Given the description of an element on the screen output the (x, y) to click on. 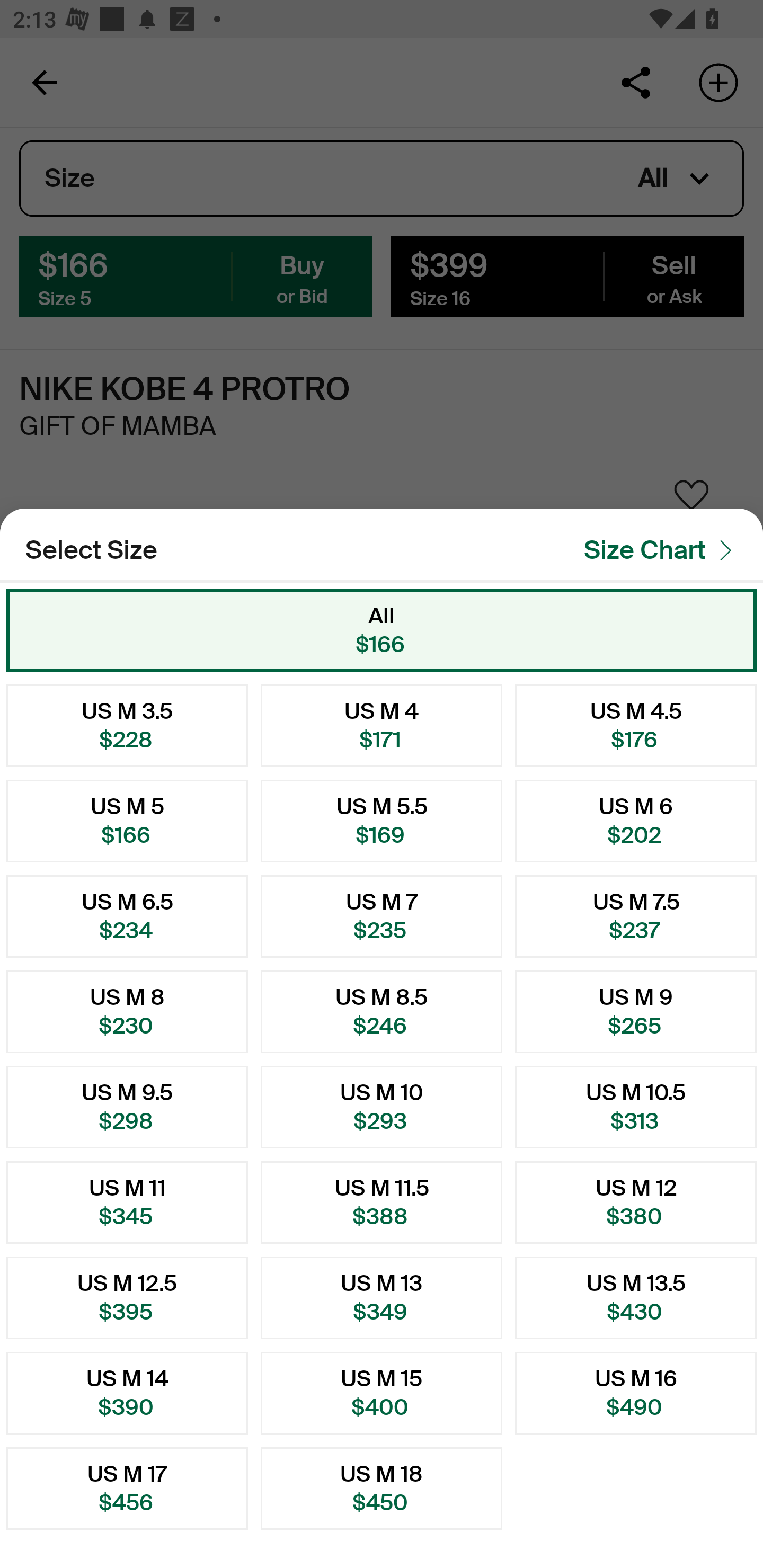
Size Chart (663, 550)
All $166 (381, 630)
US M 3.5 $228 (126, 724)
US M 4 $171 (381, 724)
US M 4.5 $176 (635, 724)
US M 5 $166 (126, 820)
US M 5.5 $169 (381, 820)
US M 6 $202 (635, 820)
US M 6.5 $234 (126, 916)
US M 7 $235 (381, 916)
US M 7.5 $237 (635, 916)
US M 8 $230 (126, 1011)
US M 8.5 $246 (381, 1011)
US M 9 $265 (635, 1011)
US M 9.5 $298 (126, 1106)
US M 10 $293 (381, 1106)
US M 10.5 $313 (635, 1106)
US M 11 $345 (126, 1202)
US M 11.5 $388 (381, 1202)
US M 12 $380 (635, 1202)
US M 12.5 $395 (126, 1297)
US M 13 $349 (381, 1297)
US M 13.5 $430 (635, 1297)
US M 14 $390 (126, 1392)
US M 15 $400 (381, 1392)
US M 16 $490 (635, 1392)
US M 17 $456 (126, 1488)
US M 18 $450 (381, 1488)
